Given the description of an element on the screen output the (x, y) to click on. 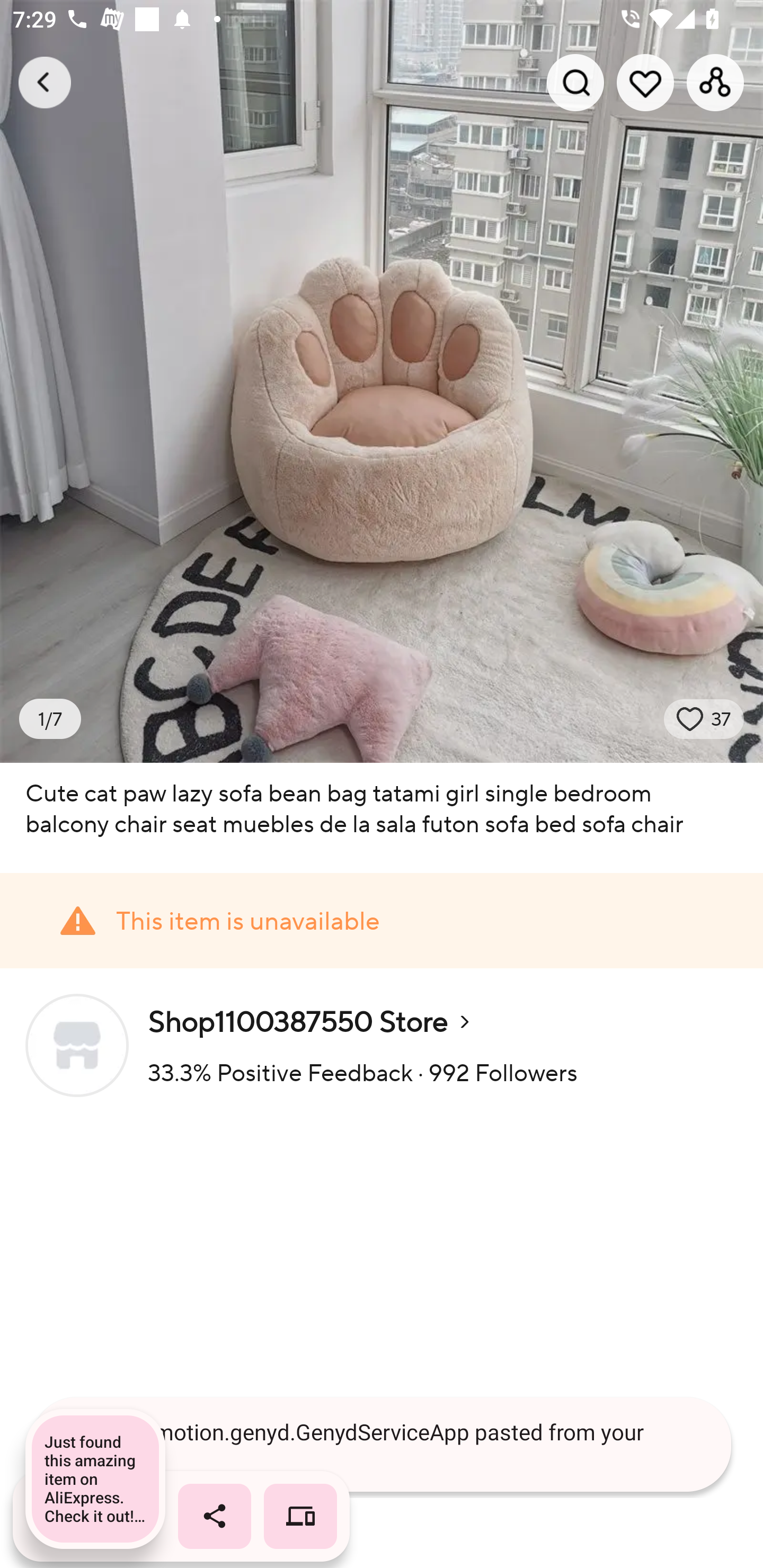
Navigate up (44, 82)
wish state 37 (703, 718)
